Given the description of an element on the screen output the (x, y) to click on. 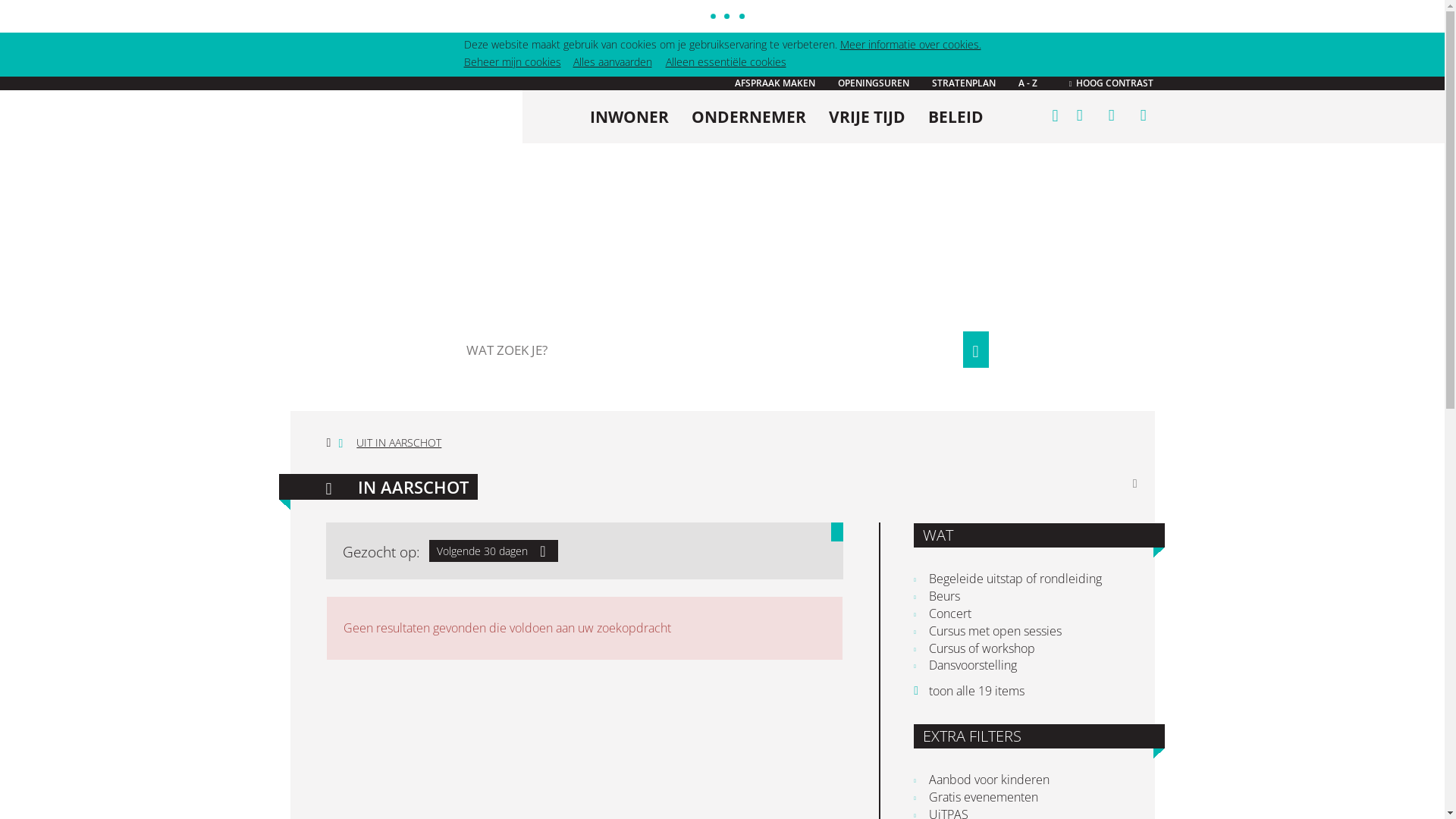
Stad Aarschot Element type: text (406, 125)
AFSPRAAK MAKEN Element type: text (774, 83)
uit Element type: text (1078, 114)
INWONER Element type: text (629, 116)
Aanbod voor kinderen Element type: text (1024, 779)
Concert Element type: text (1024, 613)
Cursus met open sessies Element type: text (1024, 631)
ONDERNEMER Element type: text (748, 116)
VRIJE TIJD Element type: text (866, 116)
Begeleide uitstap of rondleiding Element type: text (1024, 578)
Lees voor Element type: text (1054, 113)
STRATENPLAN Element type: text (962, 83)
HOME Element type: text (329, 442)
HOOG CONTRAST Element type: text (1110, 83)
BELEID Element type: text (955, 116)
Dansvoorstelling Element type: text (1024, 665)
Beurs Element type: text (1024, 596)
toon alle 19 items Element type: text (968, 690)
Alles aanvaarden Element type: text (612, 62)
Meer informatie over cookies. Element type: text (910, 44)
PAGE-EVENTS-RSS-LINK-TEXT Element type: text (1135, 482)
Volg ons op Facebook Element type: text (1110, 114)
A - Z Element type: text (1026, 83)
OPENINGSUREN Element type: text (872, 83)
Cursus of workshop Element type: text (1024, 648)
Alle filters verwijderen Element type: text (837, 531)
Beheer mijn cookies Element type: text (512, 61)
Gratis evenementen Element type: text (1024, 797)
Zoeken Element type: text (975, 349)
Volg ons op E-mail Element type: text (1142, 114)
